Given the description of an element on the screen output the (x, y) to click on. 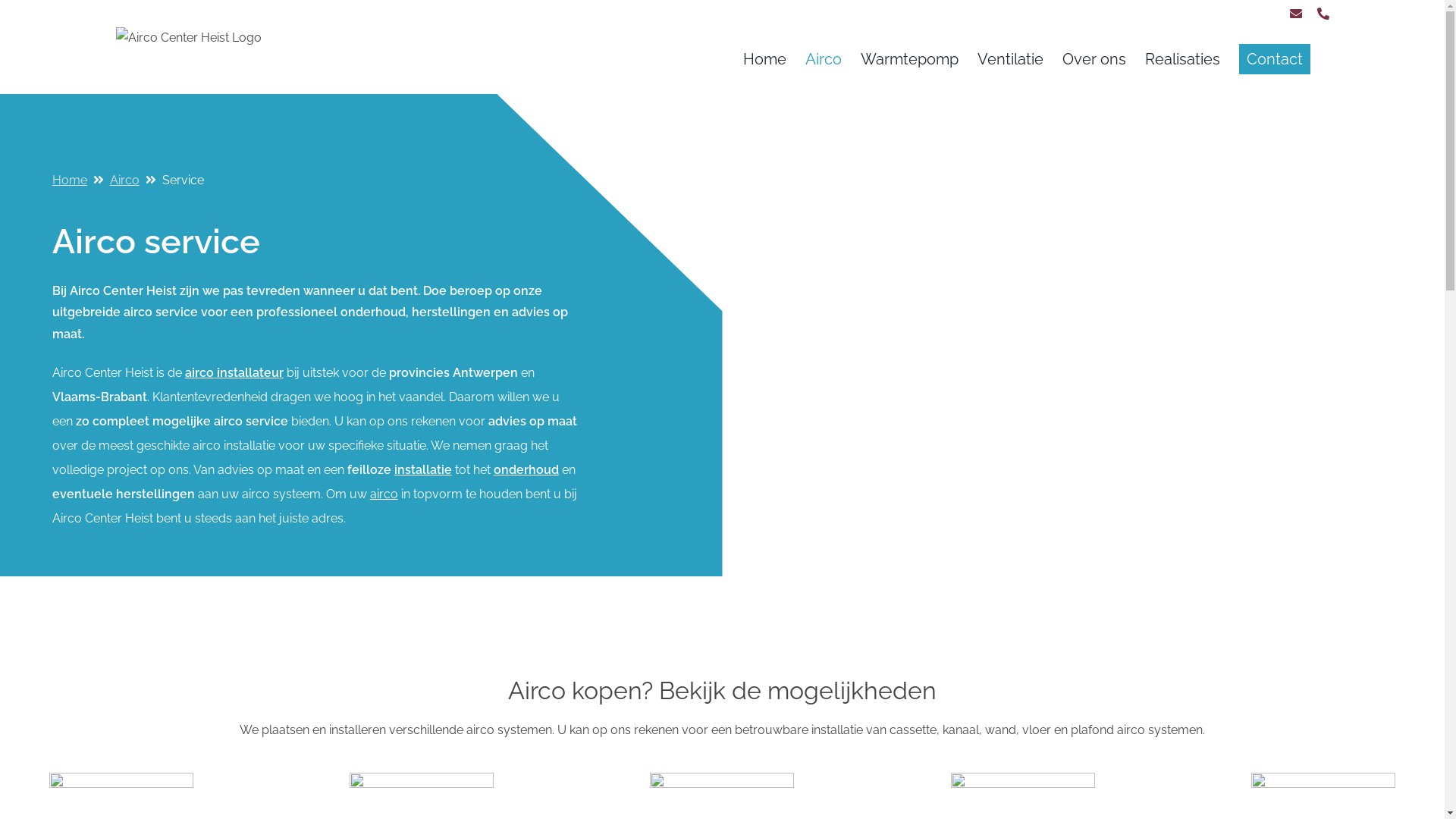
Airco Element type: text (823, 59)
Home Element type: text (764, 59)
Over ons Element type: text (1093, 59)
Warmtepomp Element type: text (908, 59)
installatie Element type: text (422, 469)
airco Element type: text (384, 493)
airco installateur Element type: text (234, 372)
E-mail Element type: text (1295, 13)
Contact Element type: text (1274, 59)
Home Element type: text (69, 179)
Airco Element type: text (124, 179)
Ventilatie Element type: text (1009, 59)
onderhoud Element type: text (525, 469)
Phone Element type: text (1322, 13)
Realisaties Element type: text (1182, 59)
